Given the description of an element on the screen output the (x, y) to click on. 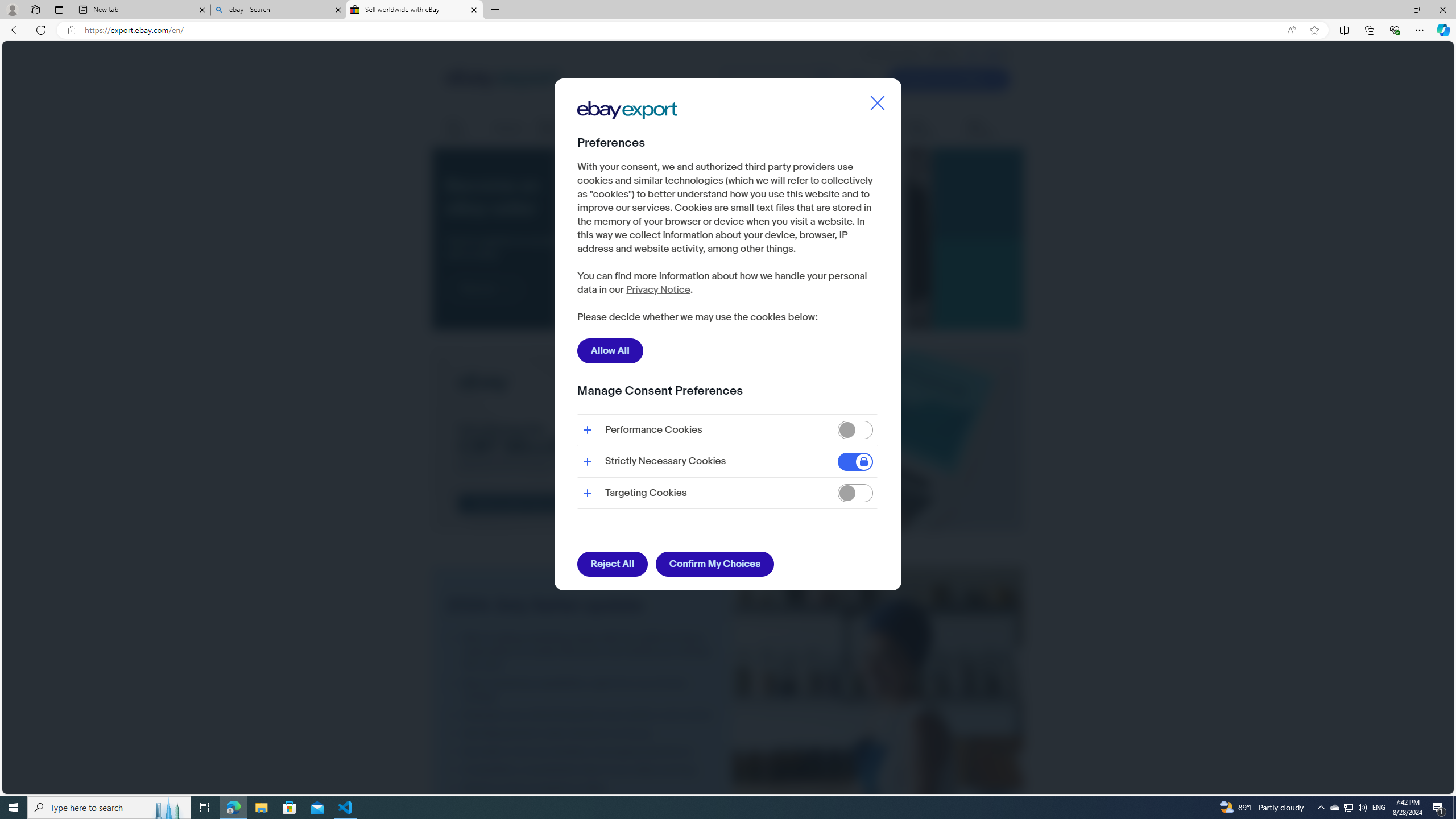
Create Your Listing (949, 78)
First steps (462, 128)
More marketing capabilities, right from your Active Listings (582, 690)
ebay - Search (277, 9)
Company Logo (627, 110)
SEA (993, 53)
Confirm My Choices (714, 564)
CBT Web Banner.jpeg (727, 439)
Reject All (611, 564)
Class: header__toplink-icon (1005, 54)
Fees, taxes & payments (718, 128)
Accept All (845, 317)
